Given the description of an element on the screen output the (x, y) to click on. 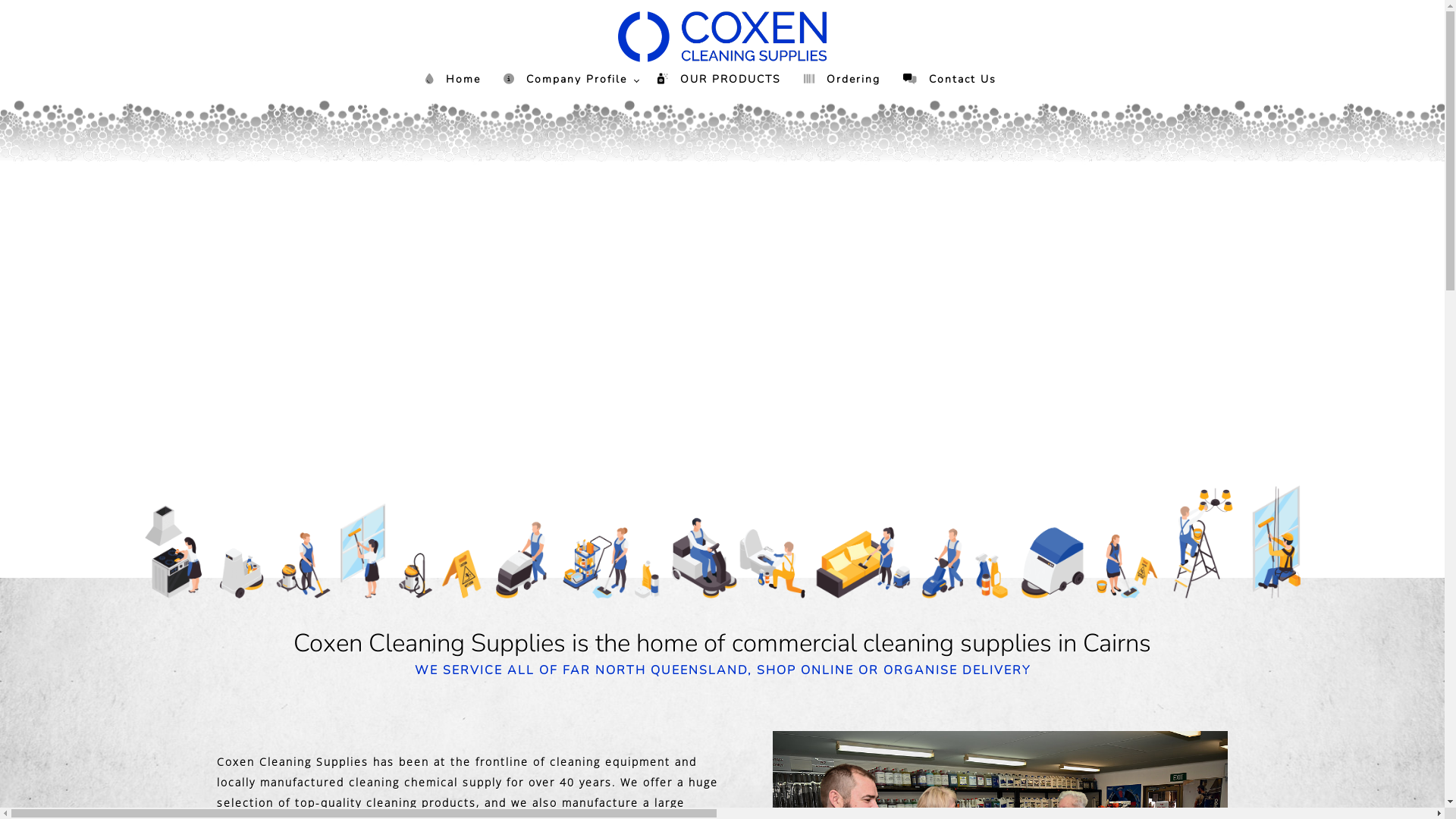
Contact Us Element type: text (949, 79)
Company Profile Element type: text (569, 79)
OUR PRODUCTS Element type: text (719, 79)
Ordering Element type: text (841, 79)
Home Element type: text (453, 79)
